Given the description of an element on the screen output the (x, y) to click on. 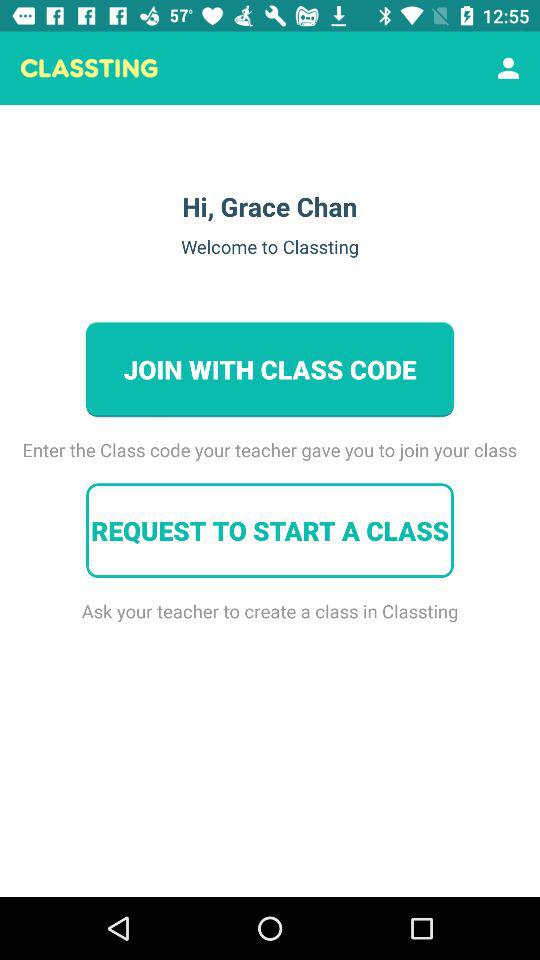
scroll to the request to start icon (269, 530)
